Given the description of an element on the screen output the (x, y) to click on. 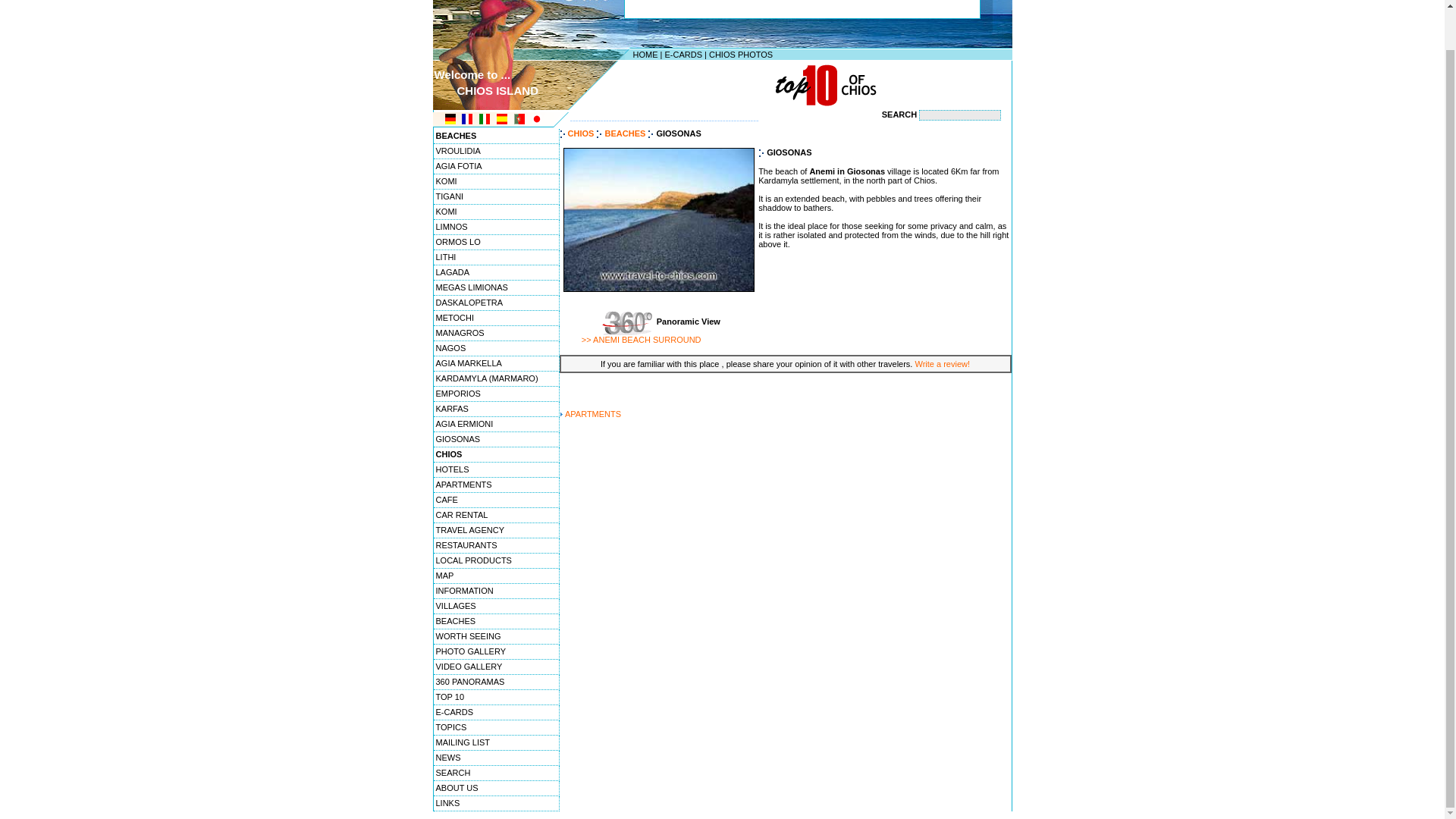
METOCHI (496, 318)
MANAGROS (496, 333)
TIGANI (496, 196)
HOME (644, 53)
CAR RENTAL (496, 515)
HOTELS (496, 469)
GIOSONAS (496, 439)
MEGAS LIMIONAS (496, 287)
CAFE (496, 500)
DASKALOPETRA (496, 303)
KOMI (496, 212)
INFORMATION (496, 590)
CHIOS (496, 454)
ORMOS LO (496, 242)
AGIA FOTIA (496, 166)
